Given the description of an element on the screen output the (x, y) to click on. 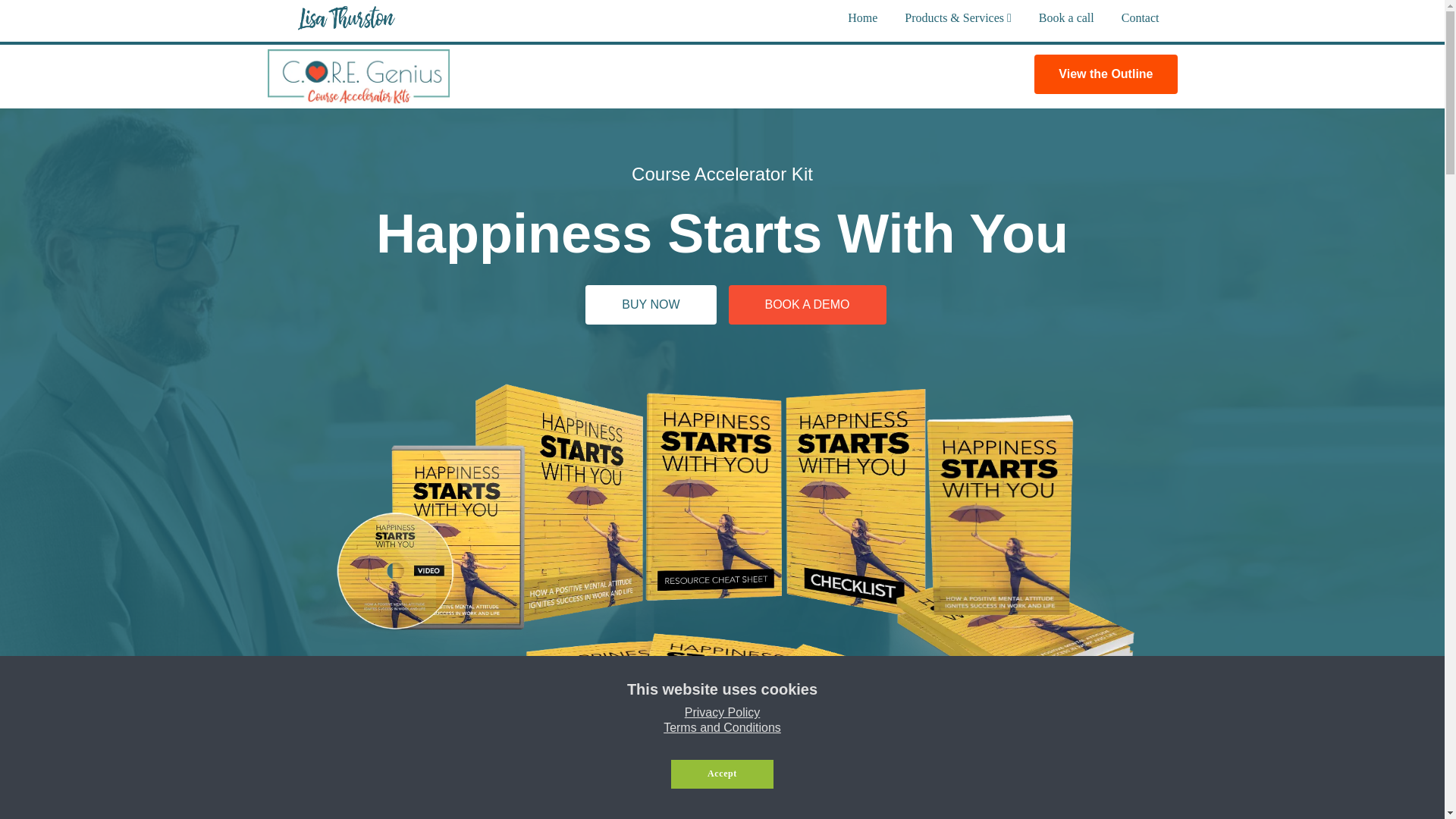
Accept (722, 774)
BUY NOW (650, 304)
View the Outline (1104, 74)
BOOK A DEMO (806, 304)
Book a call (1066, 17)
Terms and Conditions (721, 727)
Contact (1139, 17)
Home (862, 17)
Privacy Policy (722, 712)
